Given the description of an element on the screen output the (x, y) to click on. 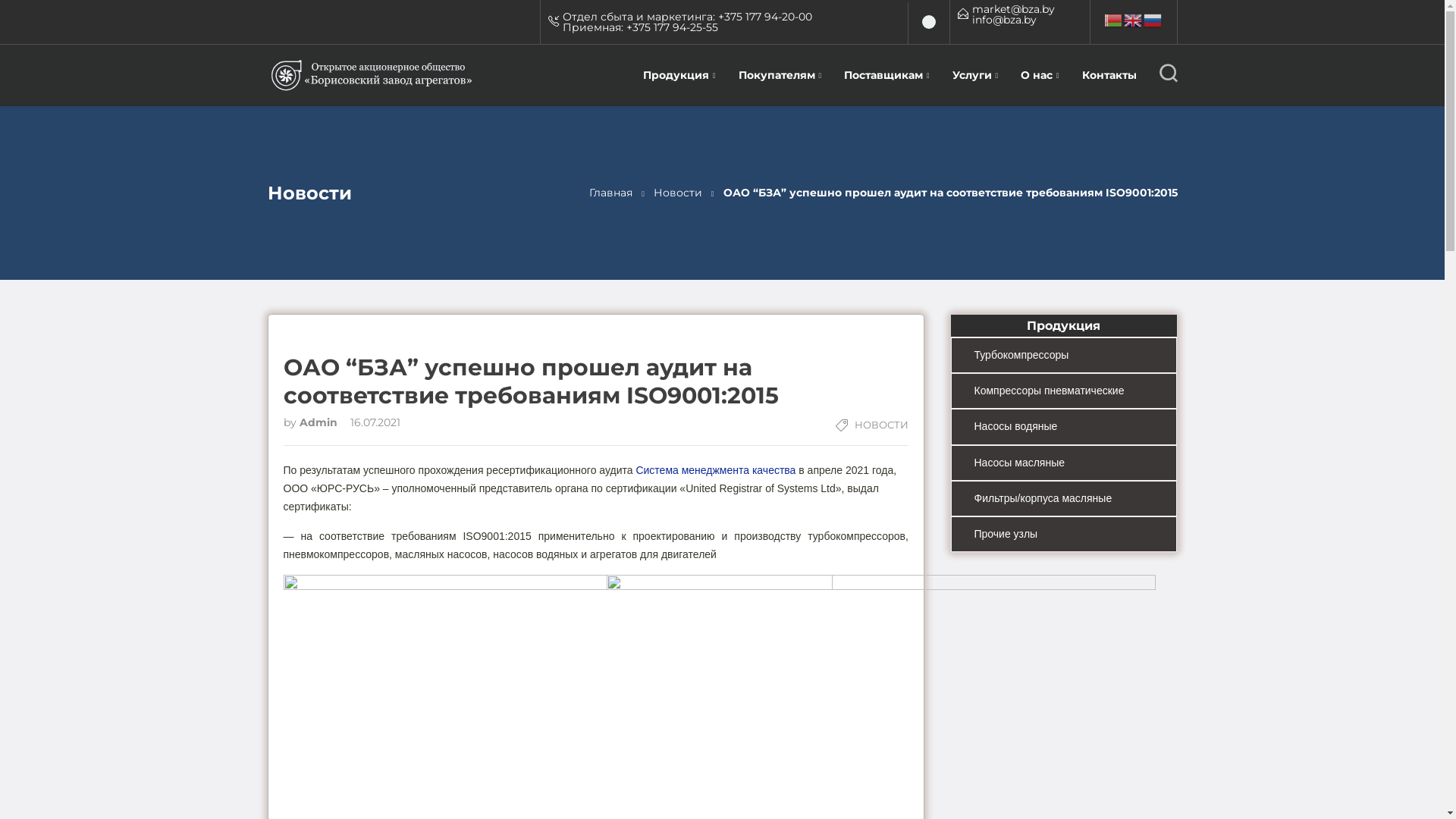
16.07.2021 Element type: text (369, 422)
English Element type: hover (1133, 19)
Admin Element type: text (318, 422)
